Given the description of an element on the screen output the (x, y) to click on. 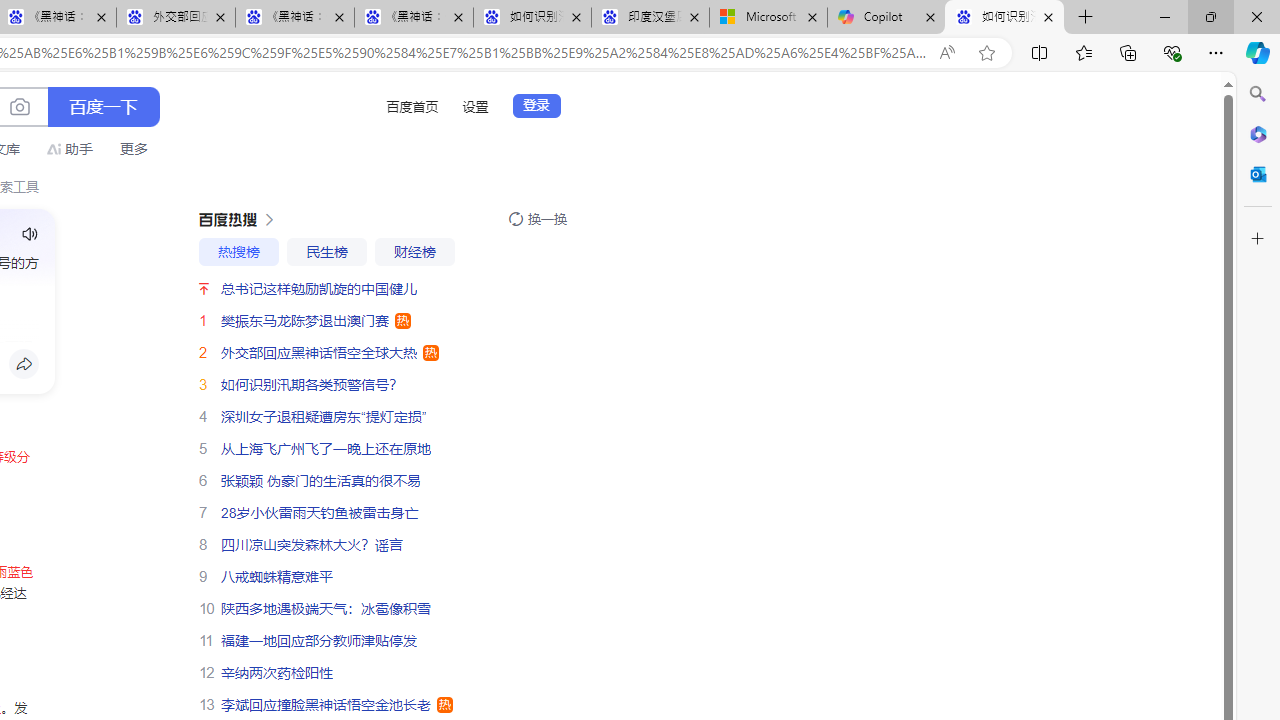
Copilot (886, 17)
